Given the description of an element on the screen output the (x, y) to click on. 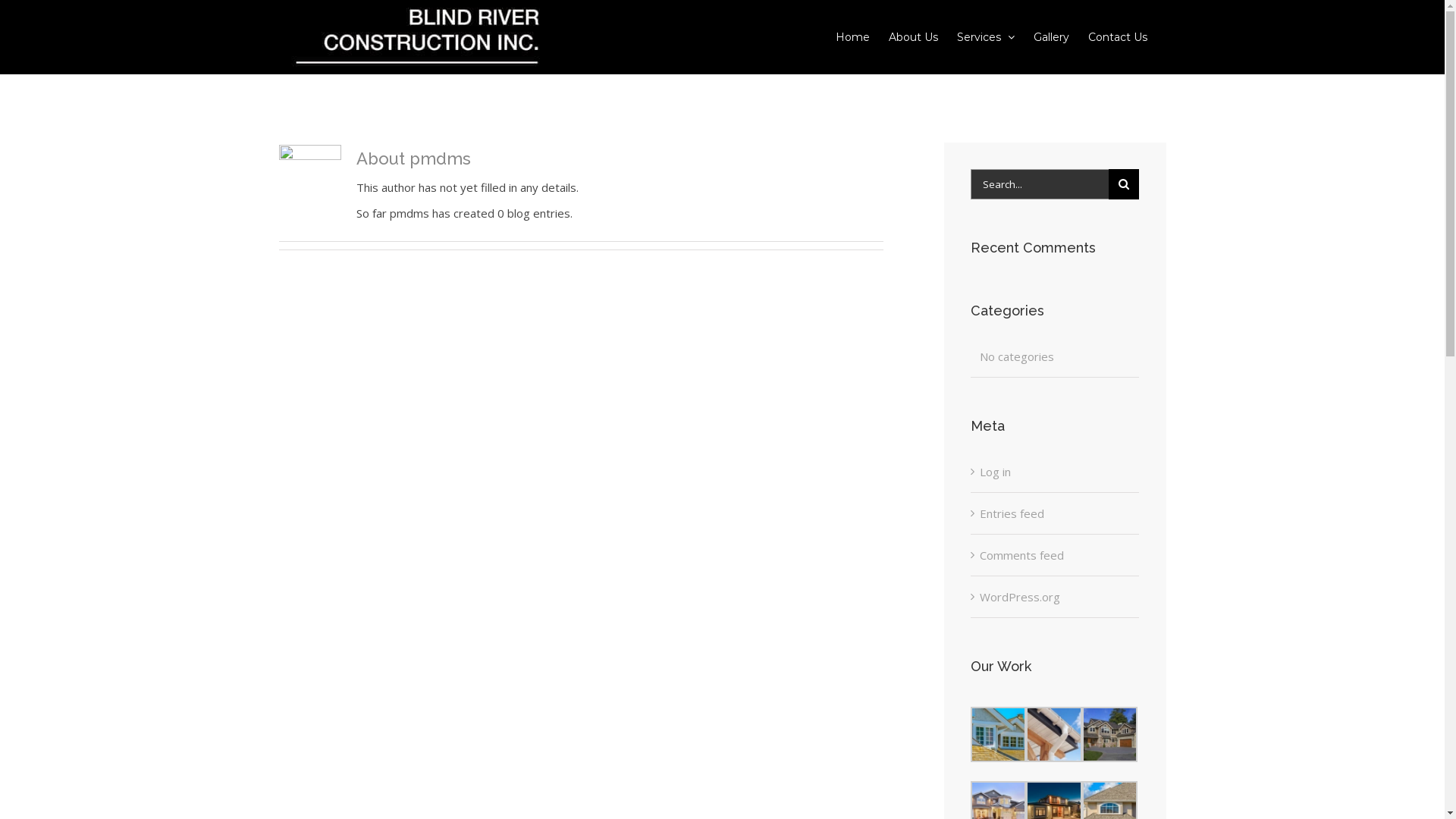
Home Element type: text (852, 36)
About Us Element type: text (913, 36)
Services Element type: text (985, 36)
Contact Us Element type: text (1116, 36)
Gallery Element type: text (1050, 36)
Comments feed Element type: text (1021, 554)
WordPress.org Element type: text (1019, 596)
Log in Element type: text (994, 471)
Entries feed Element type: text (1011, 512)
